Given the description of an element on the screen output the (x, y) to click on. 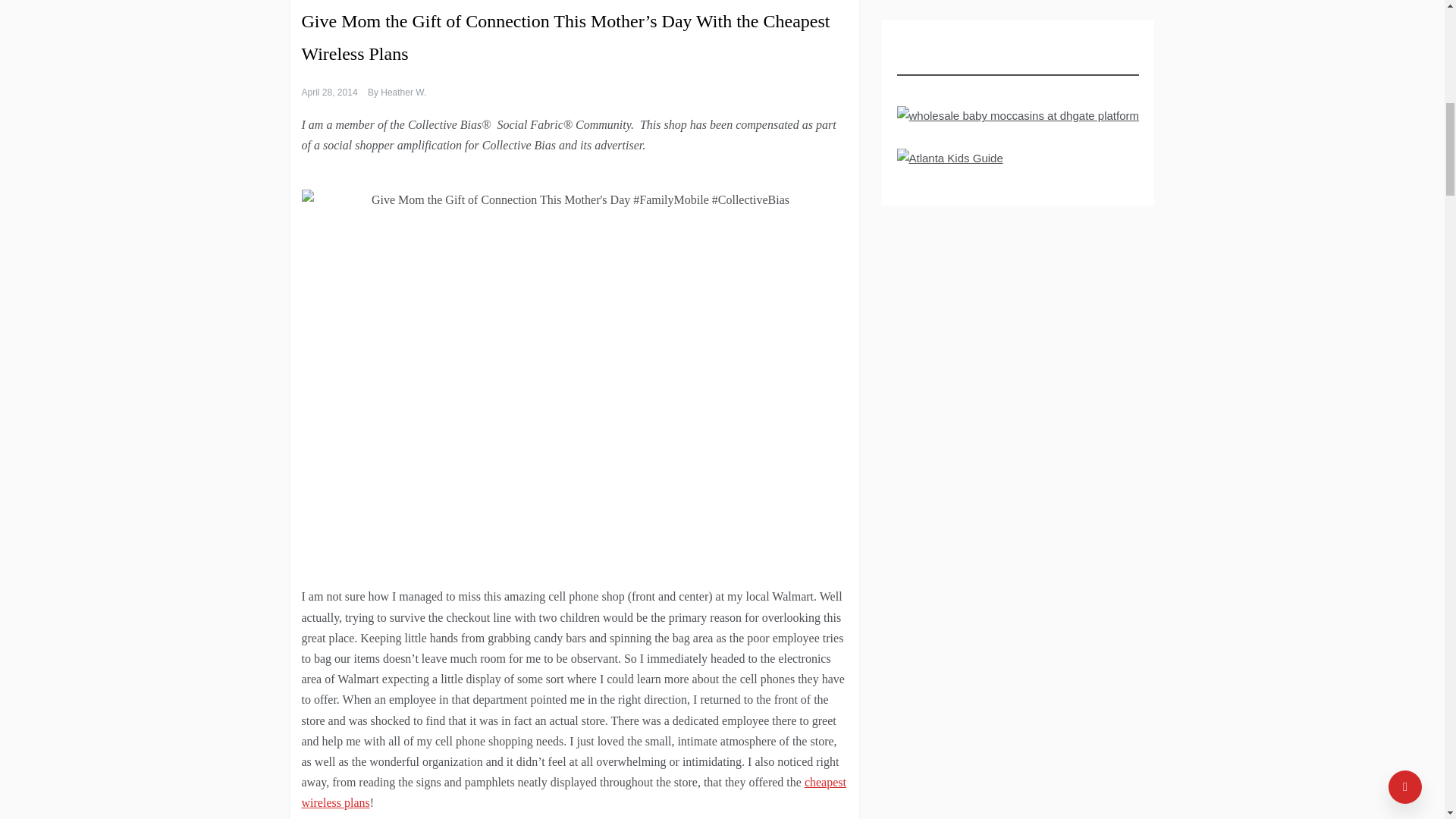
April 28, 2014 (329, 91)
Heather W. (403, 91)
Atlanta Kids Guide (949, 162)
cheapest wireless plans (573, 792)
